Given the description of an element on the screen output the (x, y) to click on. 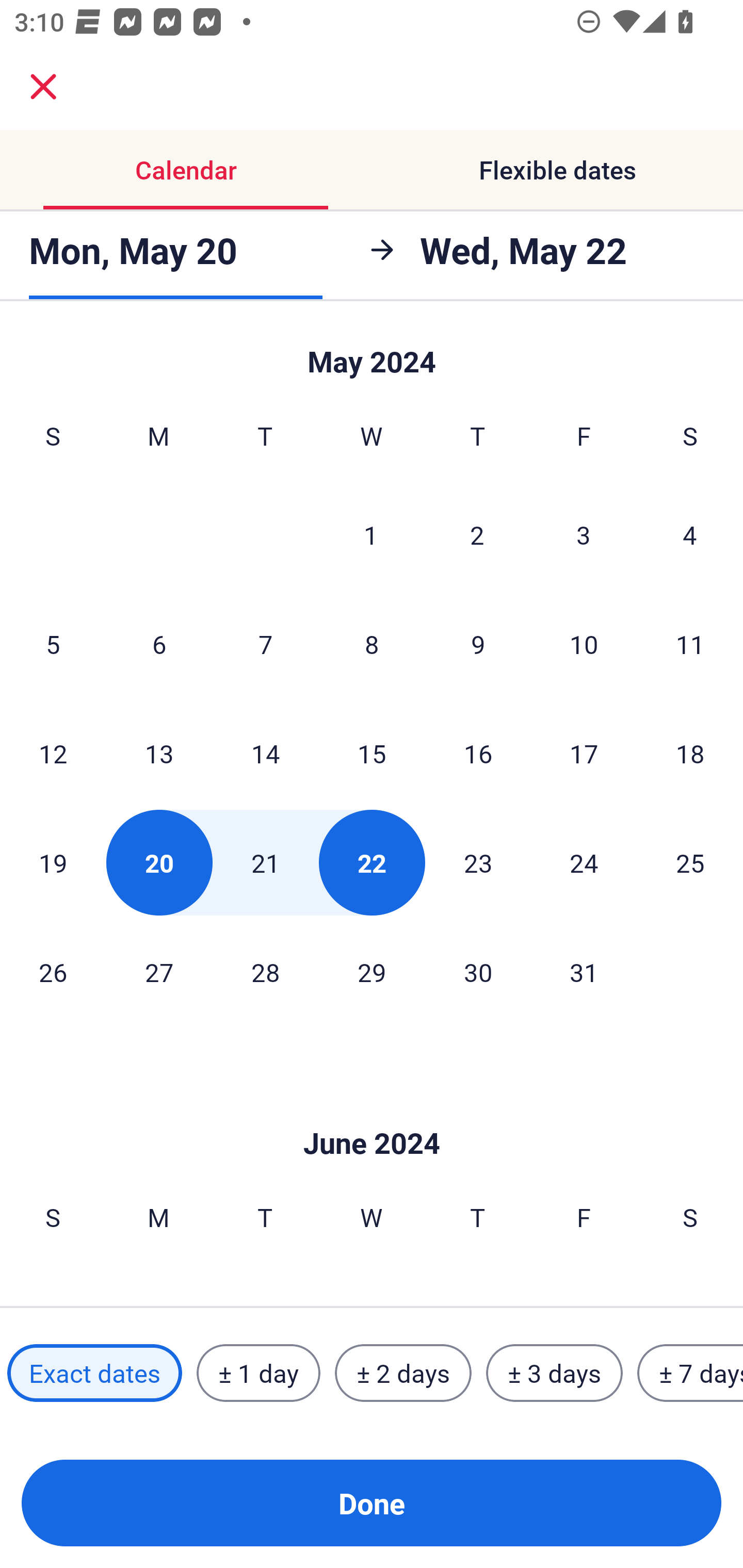
close. (43, 86)
Flexible dates (557, 170)
Skip to Done (371, 352)
1 Wednesday, May 1, 2024 (371, 534)
2 Thursday, May 2, 2024 (477, 534)
3 Friday, May 3, 2024 (583, 534)
4 Saturday, May 4, 2024 (689, 534)
5 Sunday, May 5, 2024 (53, 643)
6 Monday, May 6, 2024 (159, 643)
7 Tuesday, May 7, 2024 (265, 643)
8 Wednesday, May 8, 2024 (371, 643)
9 Thursday, May 9, 2024 (477, 643)
10 Friday, May 10, 2024 (584, 643)
11 Saturday, May 11, 2024 (690, 643)
12 Sunday, May 12, 2024 (53, 752)
13 Monday, May 13, 2024 (159, 752)
14 Tuesday, May 14, 2024 (265, 752)
15 Wednesday, May 15, 2024 (371, 752)
16 Thursday, May 16, 2024 (477, 752)
17 Friday, May 17, 2024 (584, 752)
18 Saturday, May 18, 2024 (690, 752)
19 Sunday, May 19, 2024 (53, 862)
23 Thursday, May 23, 2024 (477, 862)
24 Friday, May 24, 2024 (584, 862)
25 Saturday, May 25, 2024 (690, 862)
26 Sunday, May 26, 2024 (53, 971)
27 Monday, May 27, 2024 (159, 971)
28 Tuesday, May 28, 2024 (265, 971)
29 Wednesday, May 29, 2024 (371, 971)
30 Thursday, May 30, 2024 (477, 971)
31 Friday, May 31, 2024 (584, 971)
Skip to Done (371, 1112)
Exact dates (94, 1372)
± 1 day (258, 1372)
± 2 days (403, 1372)
± 3 days (553, 1372)
± 7 days (690, 1372)
Done (371, 1502)
